Given the description of an element on the screen output the (x, y) to click on. 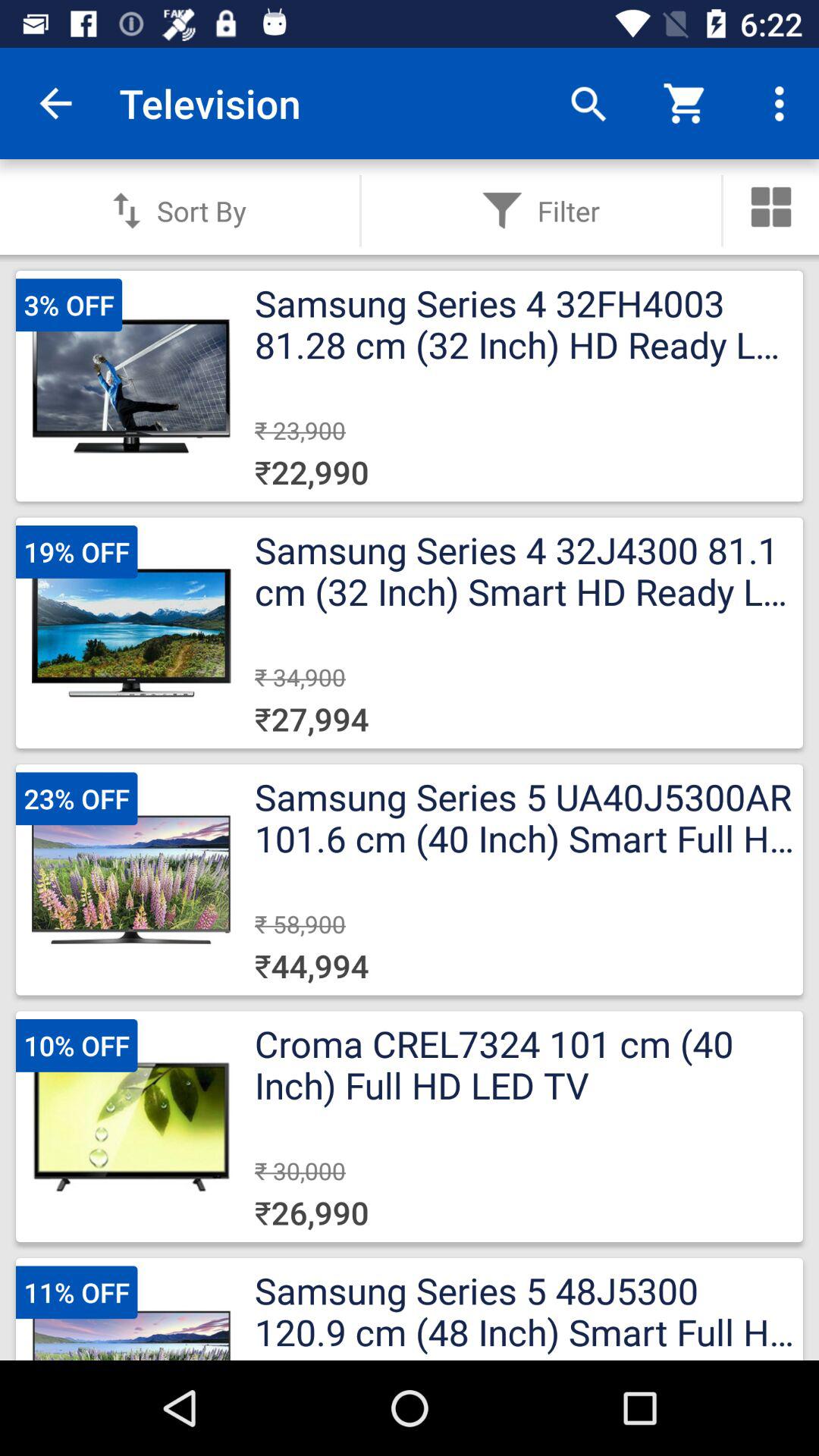
select the item to the left of television icon (55, 103)
